Given the description of an element on the screen output the (x, y) to click on. 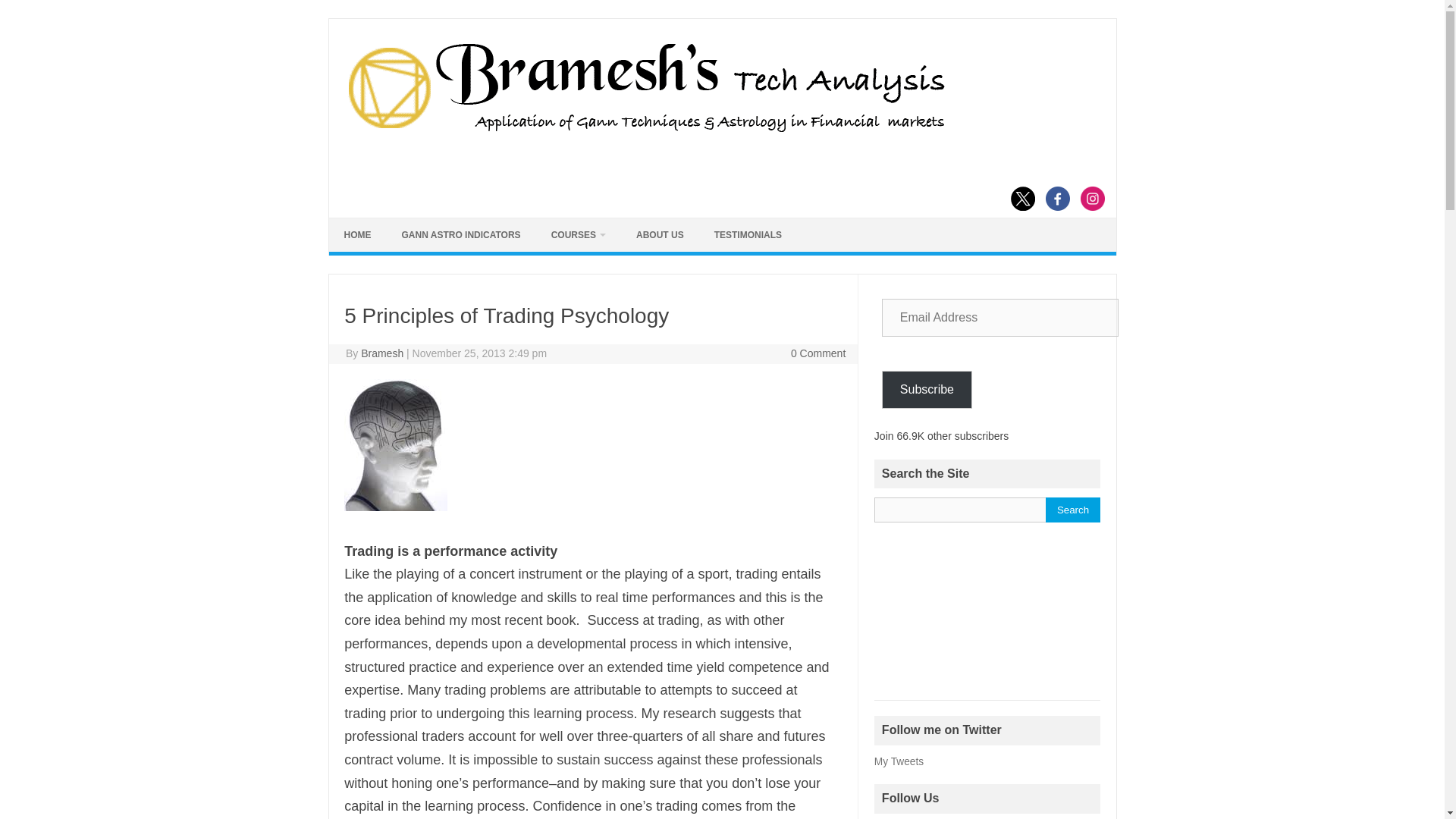
Posts by Bramesh (382, 353)
Advertisement (987, 619)
Bramesh (382, 353)
ABOUT US (659, 234)
0 Comment (817, 353)
Bramesh's Technical Analysis (645, 132)
My Tweets (899, 761)
GANN ASTRO INDICATORS (461, 234)
TESTIMONIALS (747, 234)
Search (1072, 509)
COURSES (578, 234)
HOME (358, 234)
Subscribe (927, 389)
Search (1072, 509)
